Given the description of an element on the screen output the (x, y) to click on. 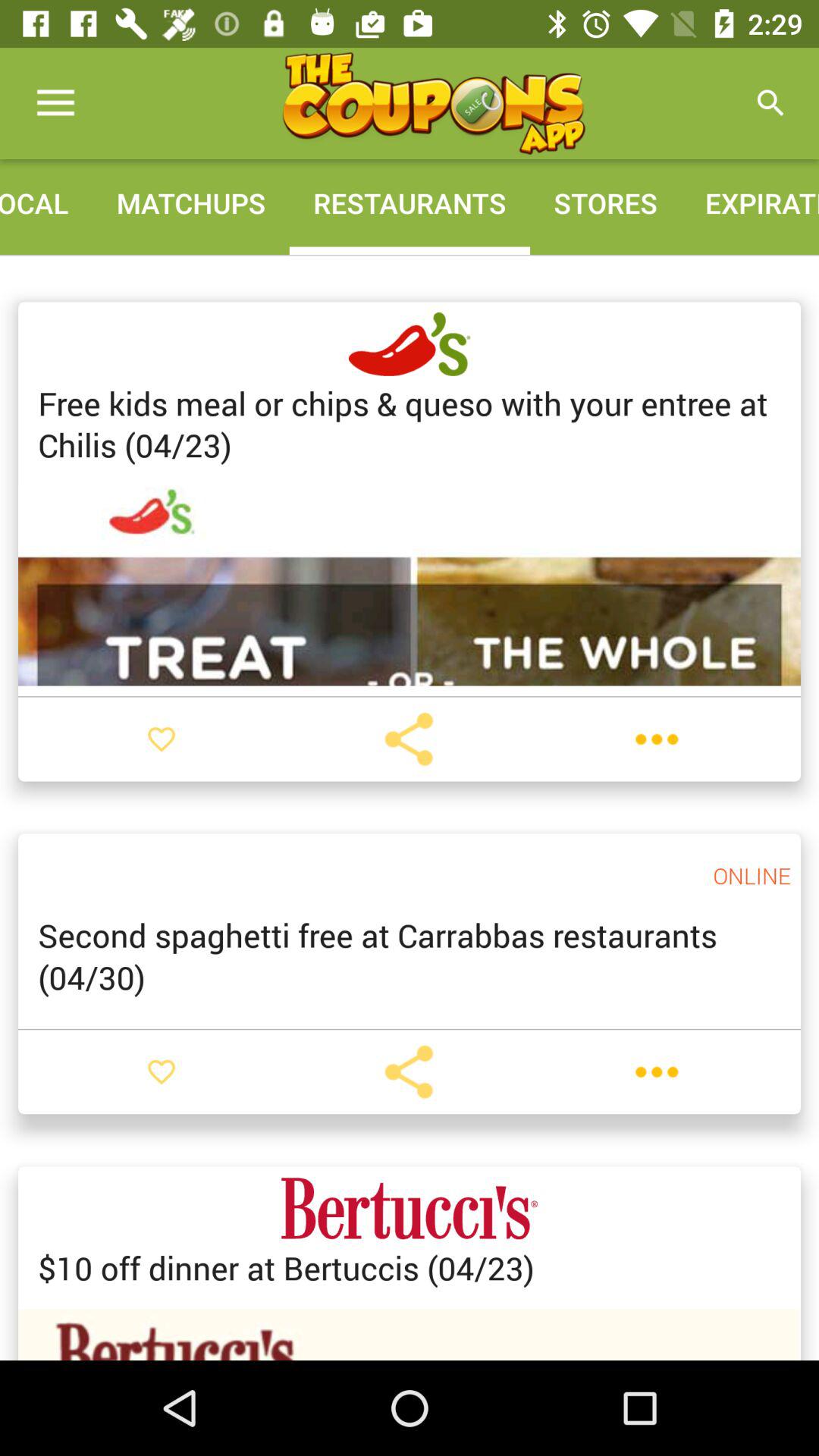
select app (432, 103)
